Given the description of an element on the screen output the (x, y) to click on. 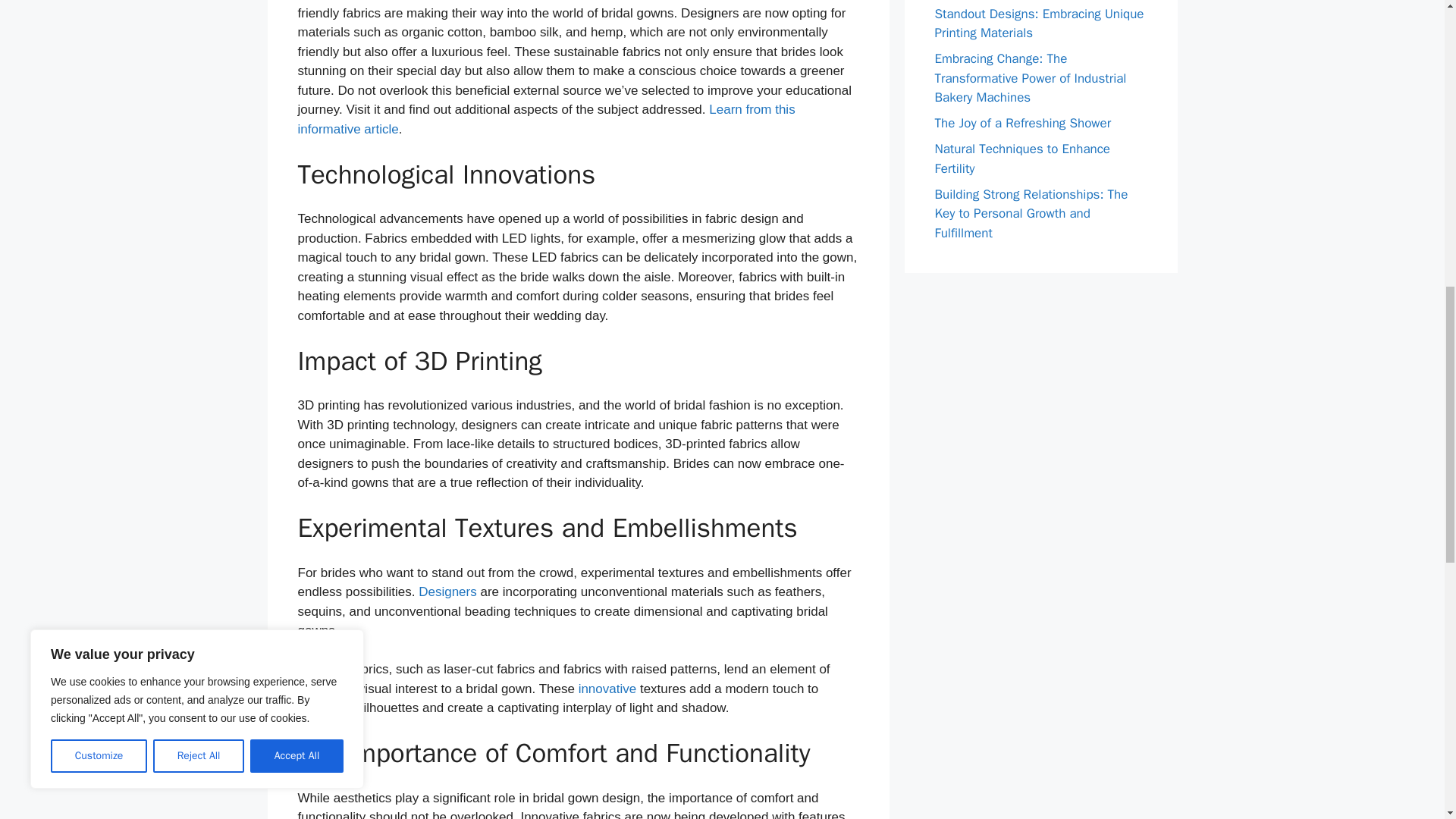
Designers (448, 591)
innovative (607, 688)
Learn from this informative article (545, 119)
